Given the description of an element on the screen output the (x, y) to click on. 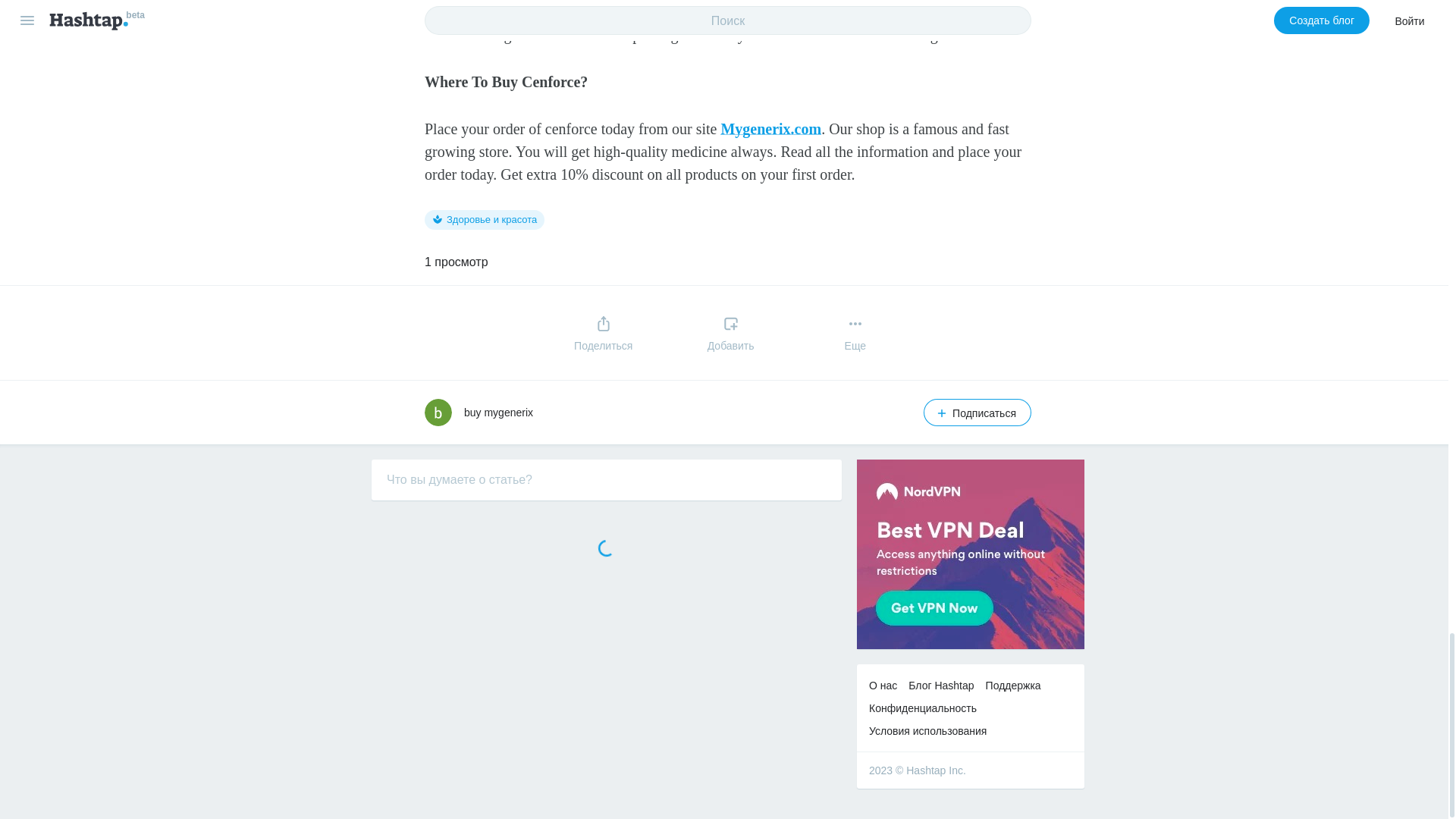
Mygenerix.com (770, 128)
buy mygenerix (498, 412)
